Given the description of an element on the screen output the (x, y) to click on. 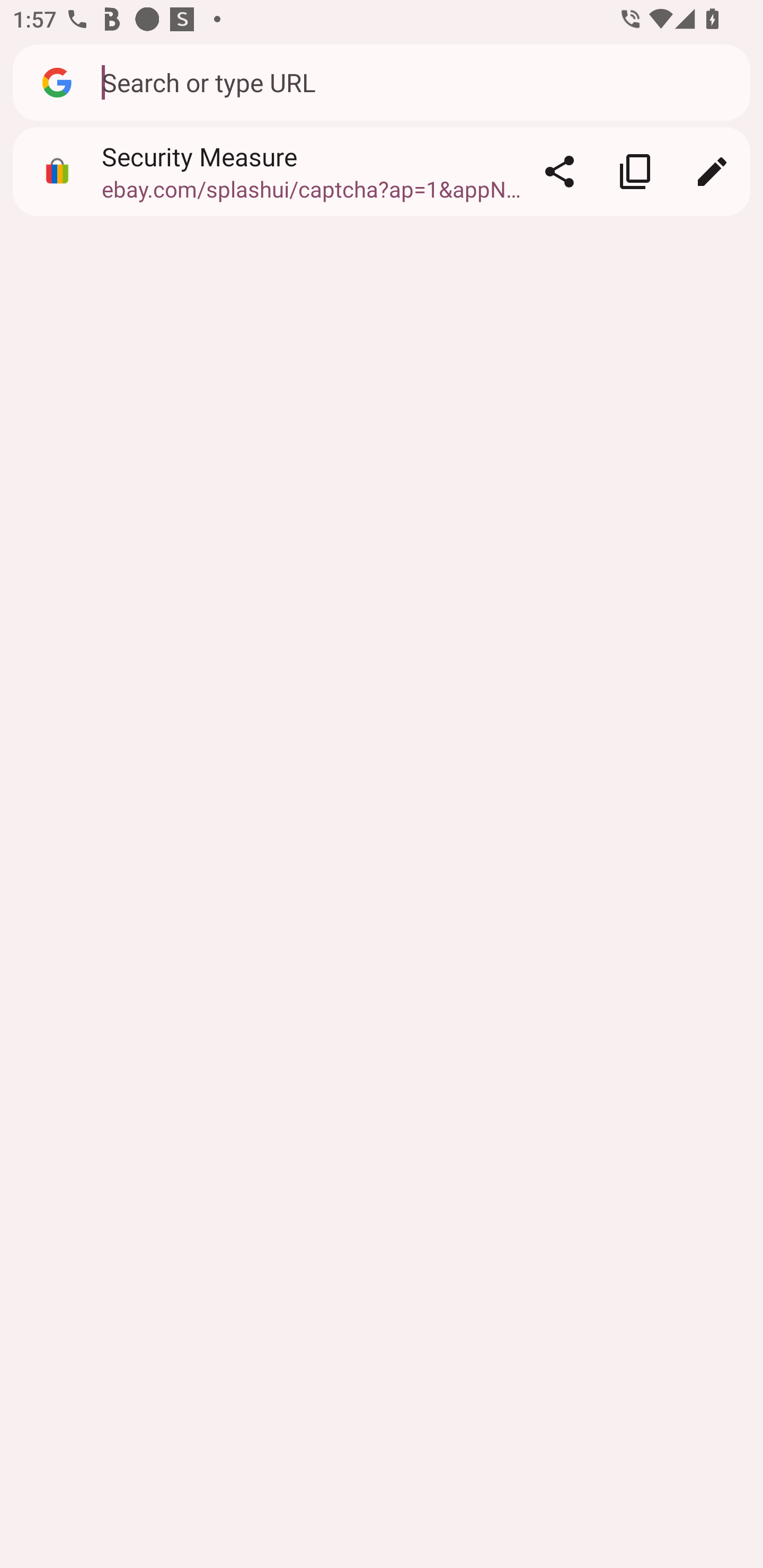
Search or type URL (415, 82)
Share… (559, 171)
Copy link (635, 171)
Edit (711, 171)
